Given the description of an element on the screen output the (x, y) to click on. 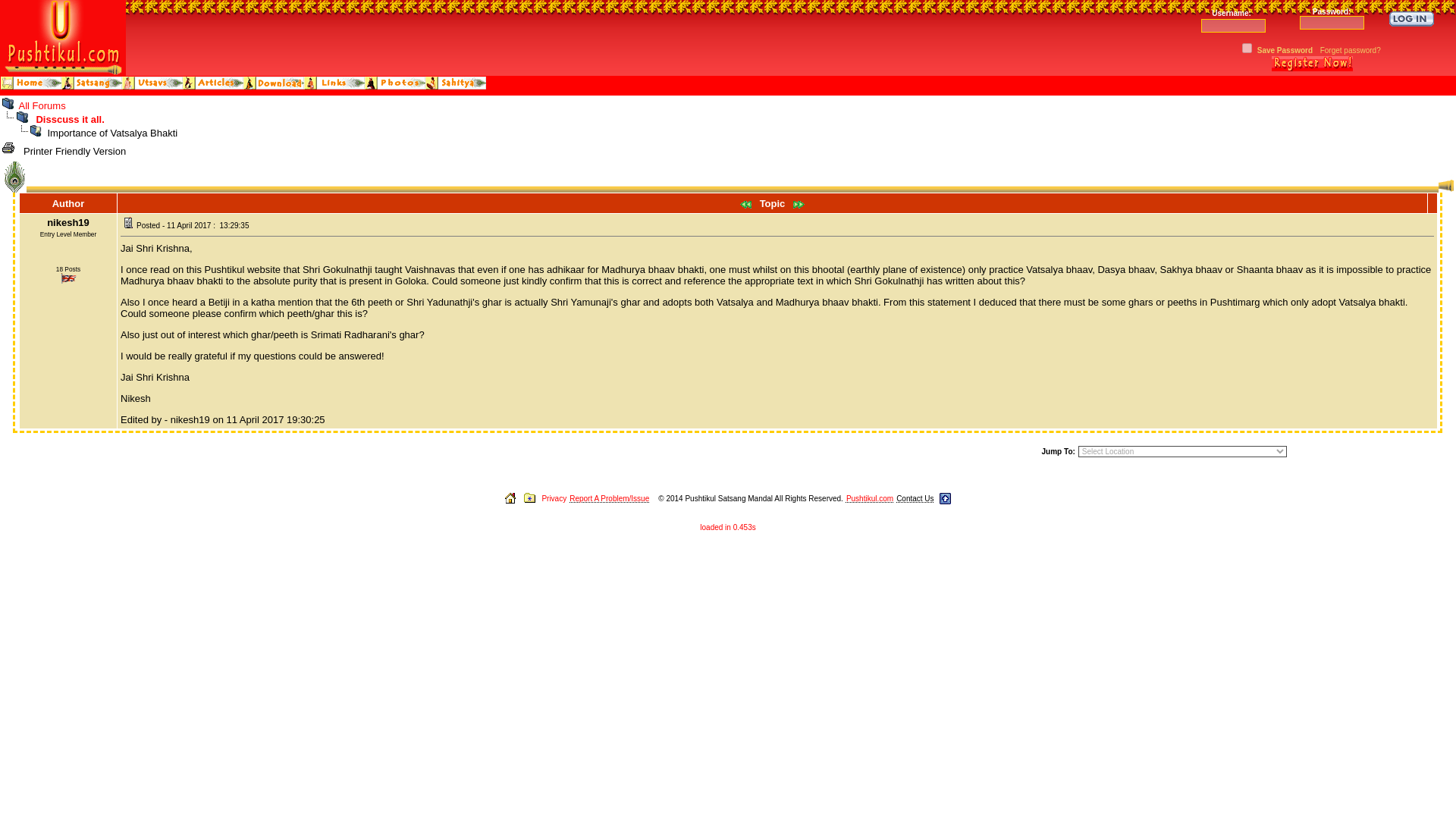
Powered By: Pushtikul Version NEXT! (869, 498)
Pushtikul.com (869, 498)
Contact Site Administrator (914, 498)
Page Timer (727, 527)
loaded in 0.453s (727, 527)
true (1246, 47)
Forget password? (1350, 49)
Click Here to Report a Problem (609, 498)
Login (1411, 18)
nikesh19 (67, 221)
